Given the description of an element on the screen output the (x, y) to click on. 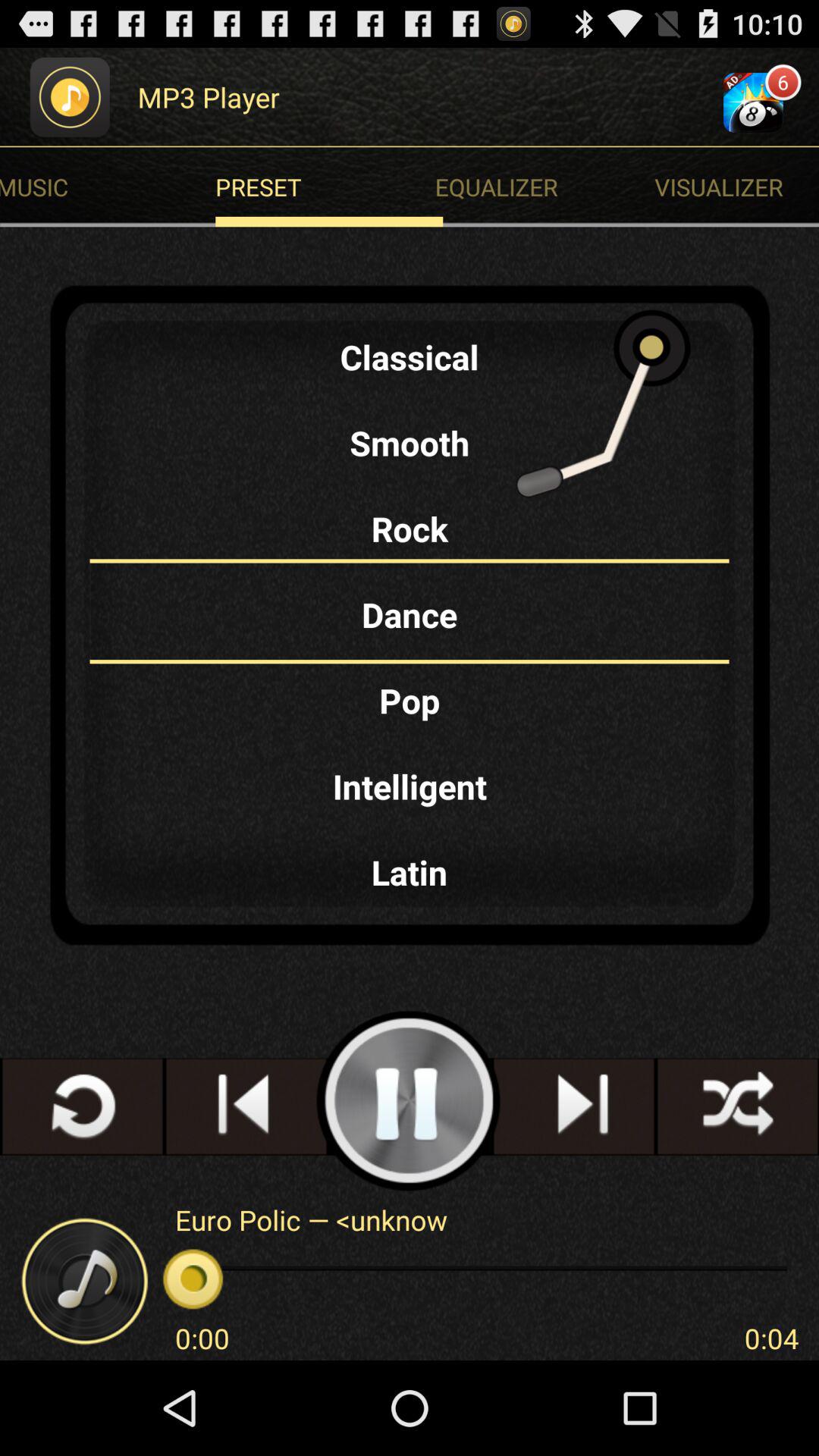
tap the radio button to the right of the preset (736, 186)
